Given the description of an element on the screen output the (x, y) to click on. 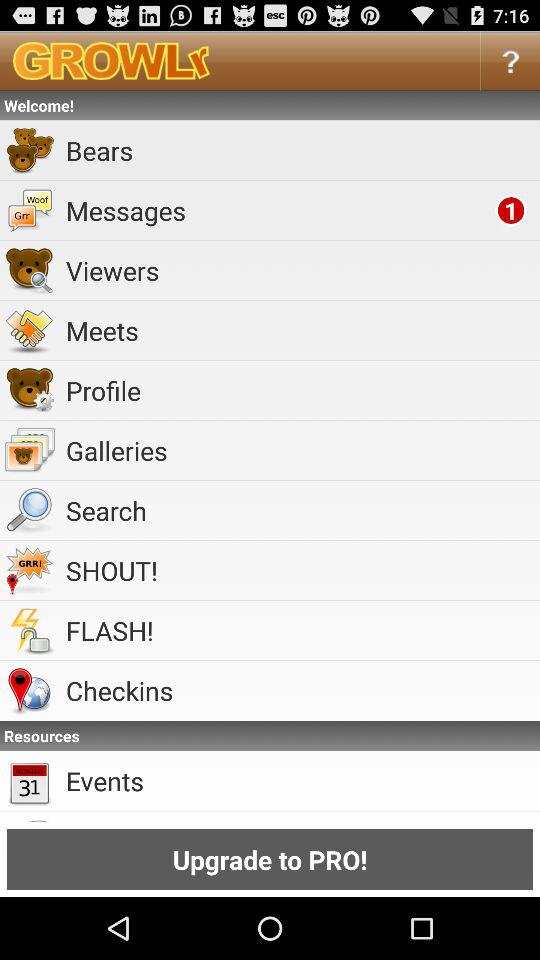
open the icon above the upgrade to pro! item (299, 780)
